Given the description of an element on the screen output the (x, y) to click on. 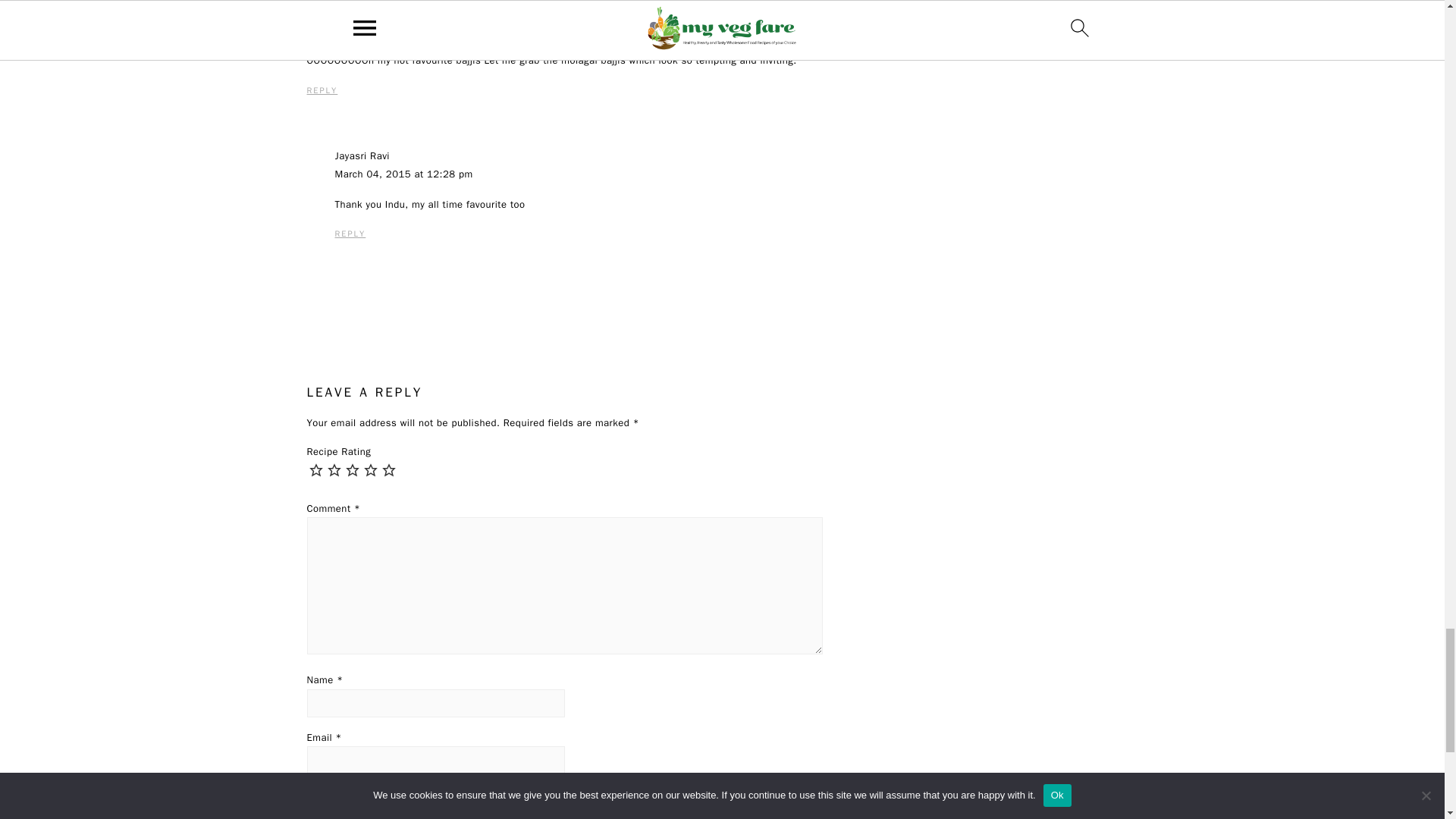
yes (563, 792)
